Given the description of an element on the screen output the (x, y) to click on. 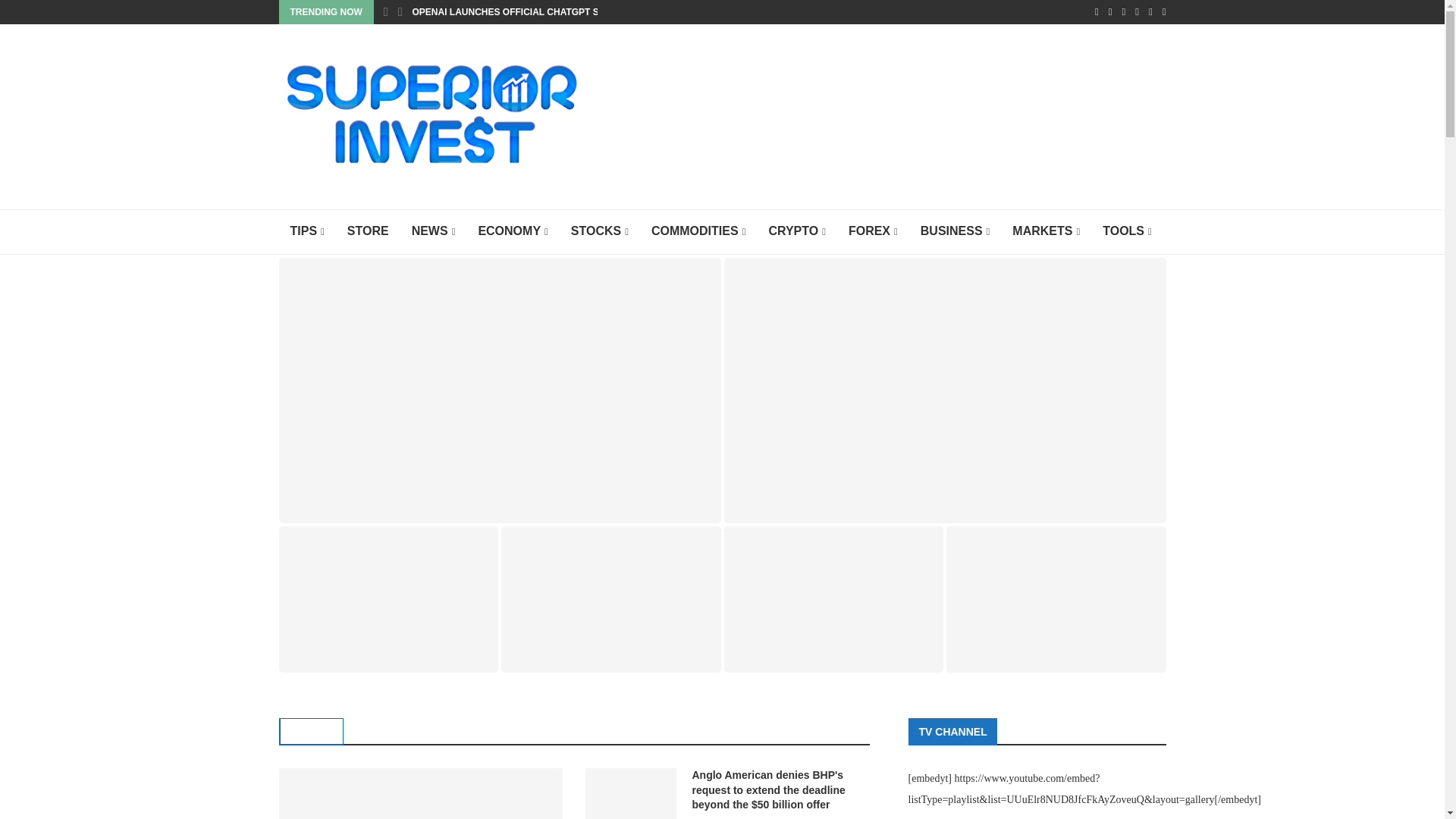
STORE (368, 231)
NEWS (433, 231)
TIPS (307, 231)
